Given the description of an element on the screen output the (x, y) to click on. 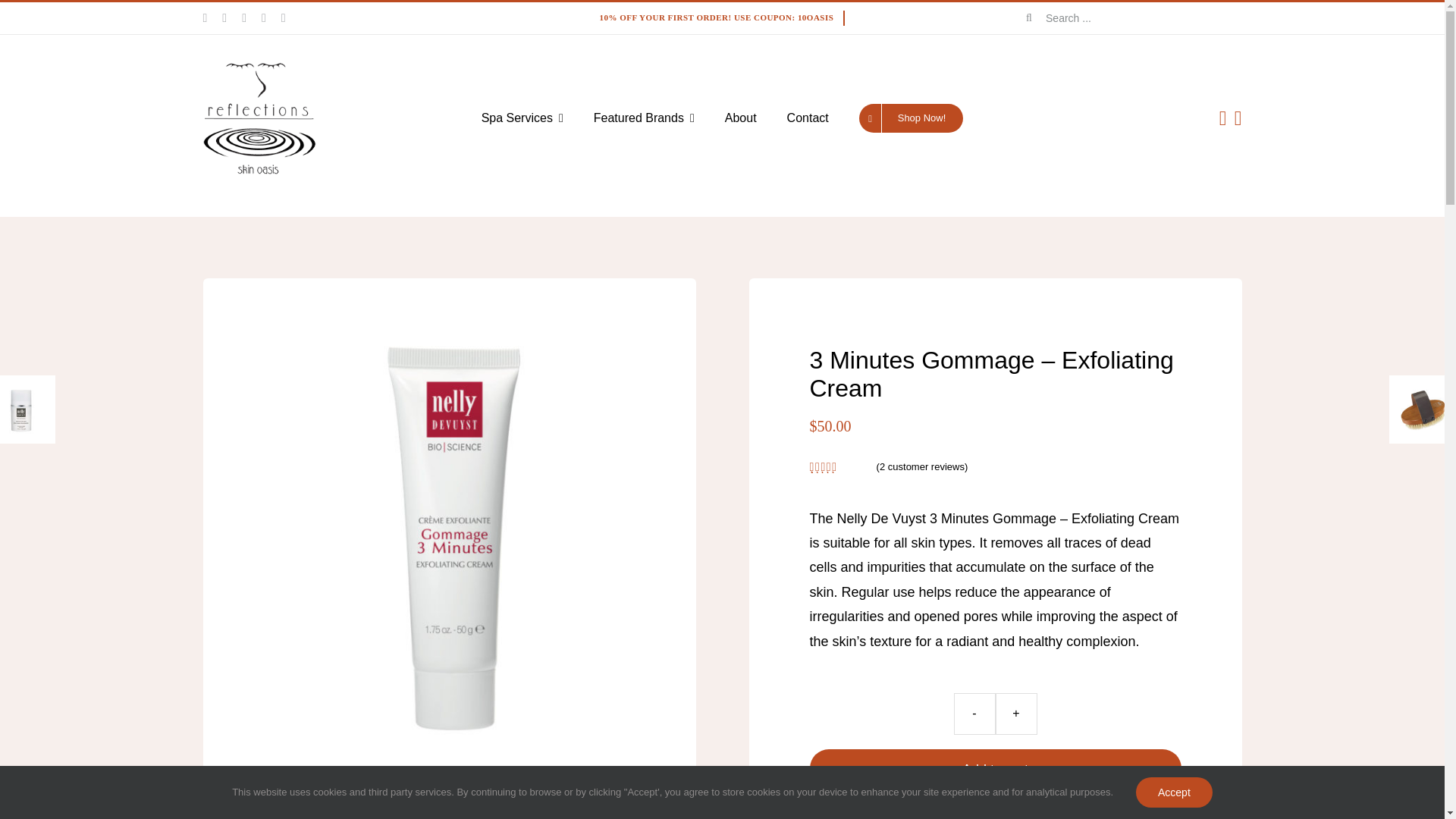
Add to cart (994, 770)
Contact (807, 118)
Featured Brands (644, 118)
Exfoliants (999, 816)
Shop Now! (911, 118)
About (741, 118)
BioScience (947, 816)
Nelly De Vuyst (1058, 816)
Spa Services (522, 118)
- (974, 713)
Log In (1160, 299)
